Given the description of an element on the screen output the (x, y) to click on. 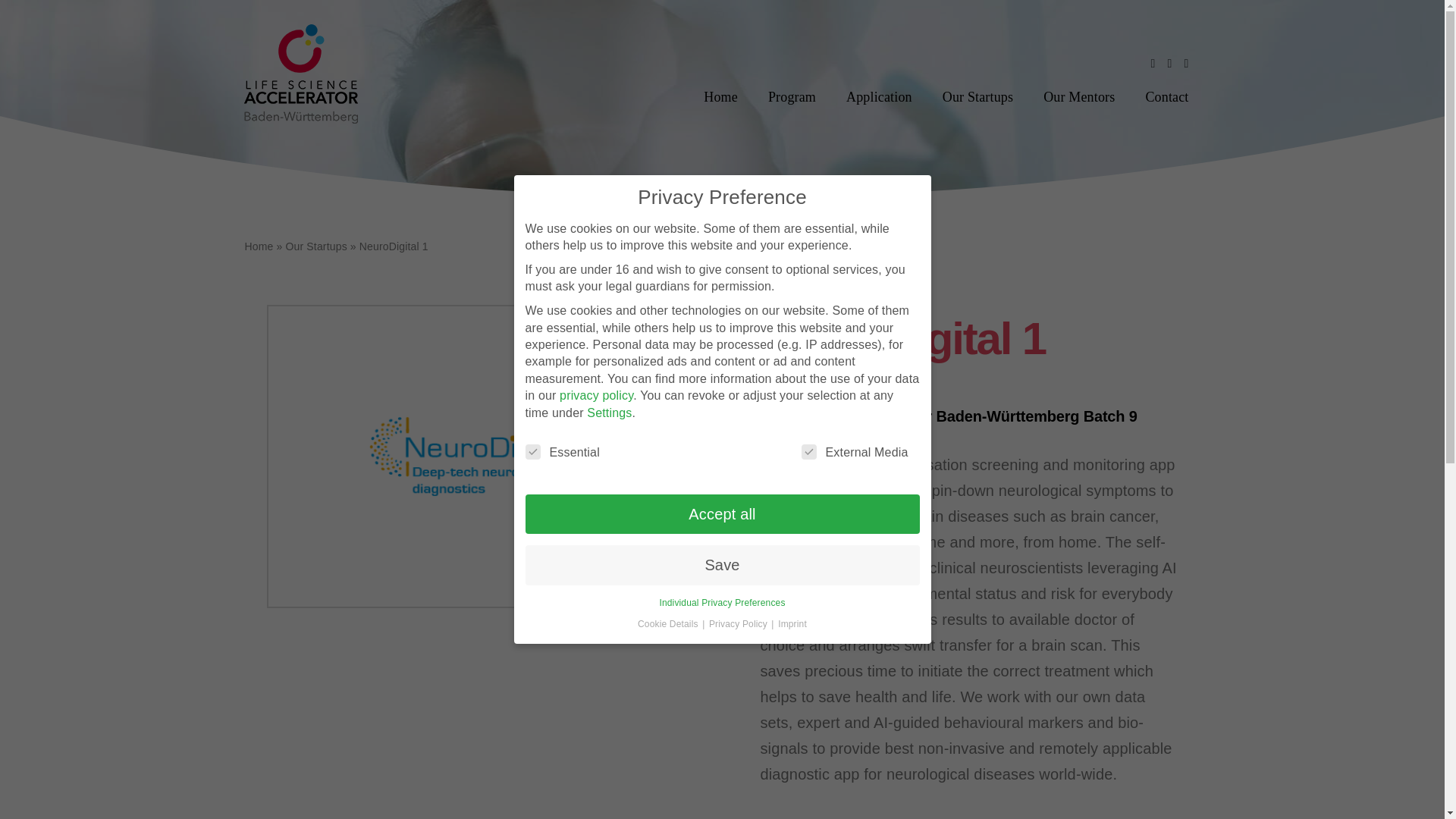
Application (878, 97)
Cookie Details (668, 624)
Privacy Policy (739, 624)
privacy policy (596, 395)
Settings (608, 412)
Program (792, 97)
Our Startups (978, 97)
Our Mentors (1078, 97)
Individual Privacy Preferences (721, 602)
Neurodigital1 (475, 456)
Our Startups (315, 246)
Home (258, 246)
Accept all (721, 513)
Contact (1166, 97)
Home (721, 97)
